Given the description of an element on the screen output the (x, y) to click on. 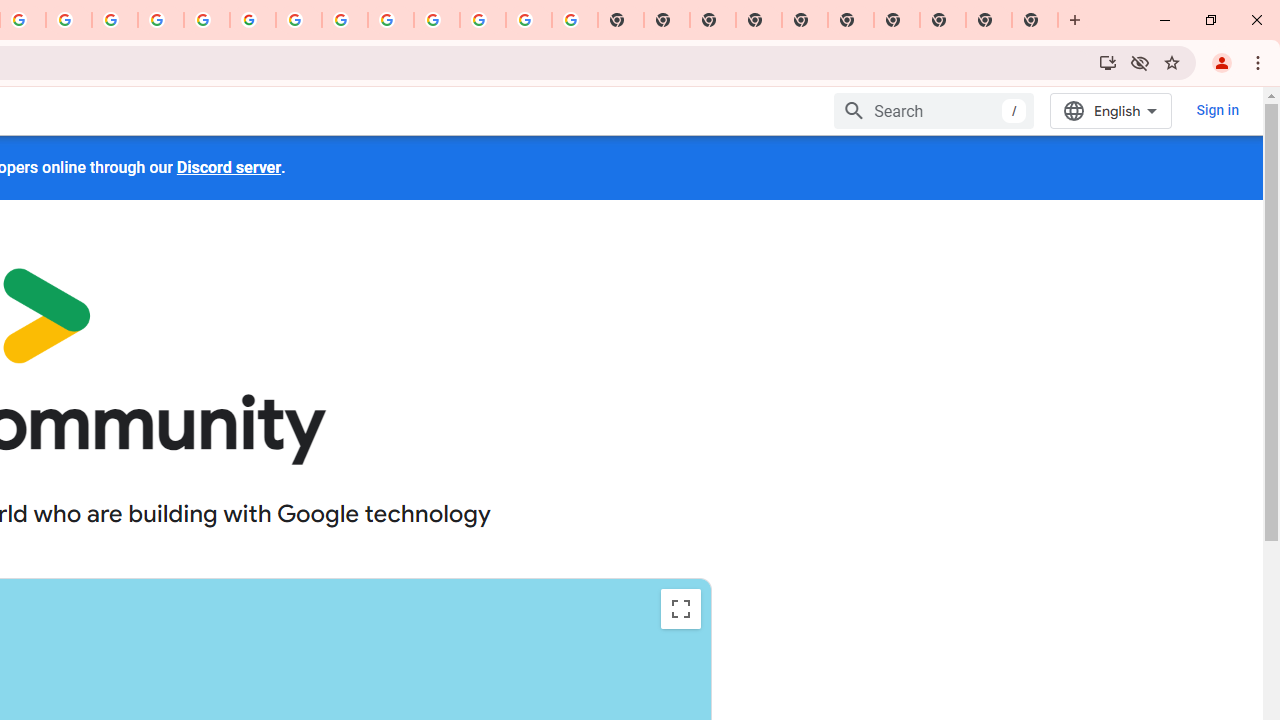
Install Google Developers (1107, 62)
Privacy Help Center - Policies Help (115, 20)
Google Images (574, 20)
Privacy Help Center - Policies Help (161, 20)
English (1110, 110)
YouTube (299, 20)
Discord server (228, 167)
